Given the description of an element on the screen output the (x, y) to click on. 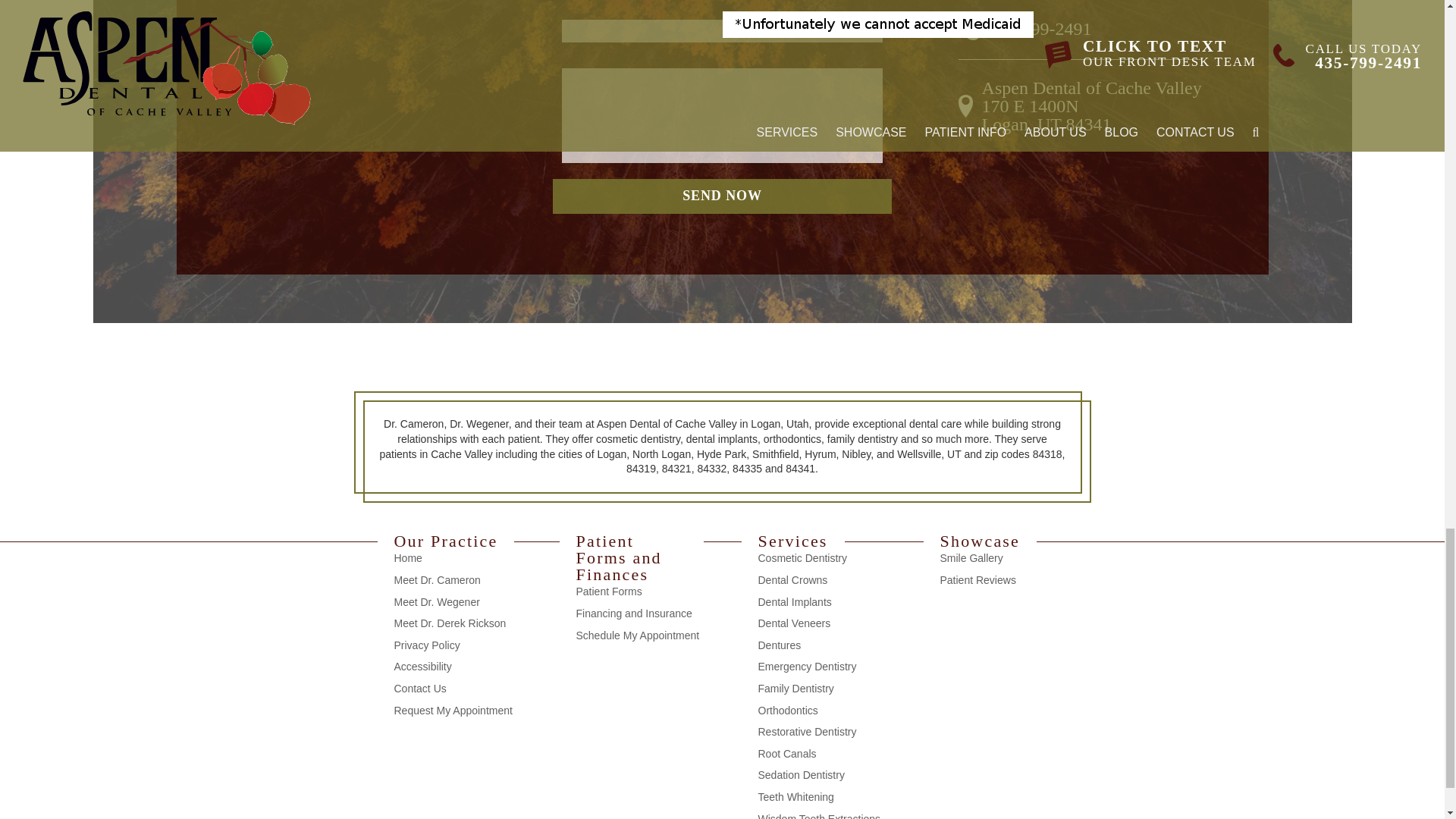
Send Now (722, 196)
